Given the description of an element on the screen output the (x, y) to click on. 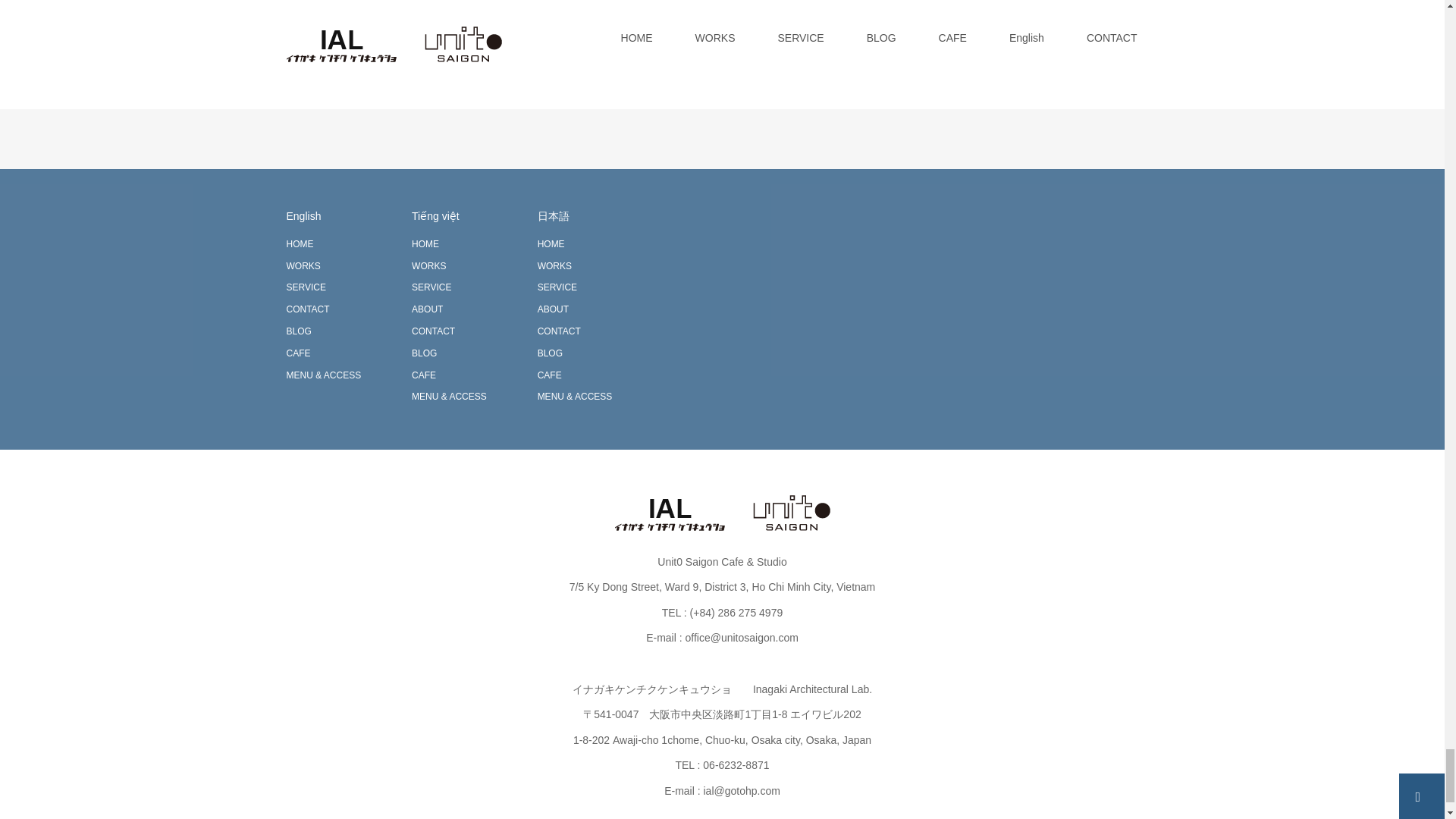
CAFE (298, 353)
ABOUT (427, 308)
CONTACT (433, 330)
WORKS (303, 266)
HOME (425, 244)
BLOG (298, 330)
WORKS (428, 266)
SERVICE (431, 286)
CONTACT (308, 308)
HOME (300, 244)
